Given the description of an element on the screen output the (x, y) to click on. 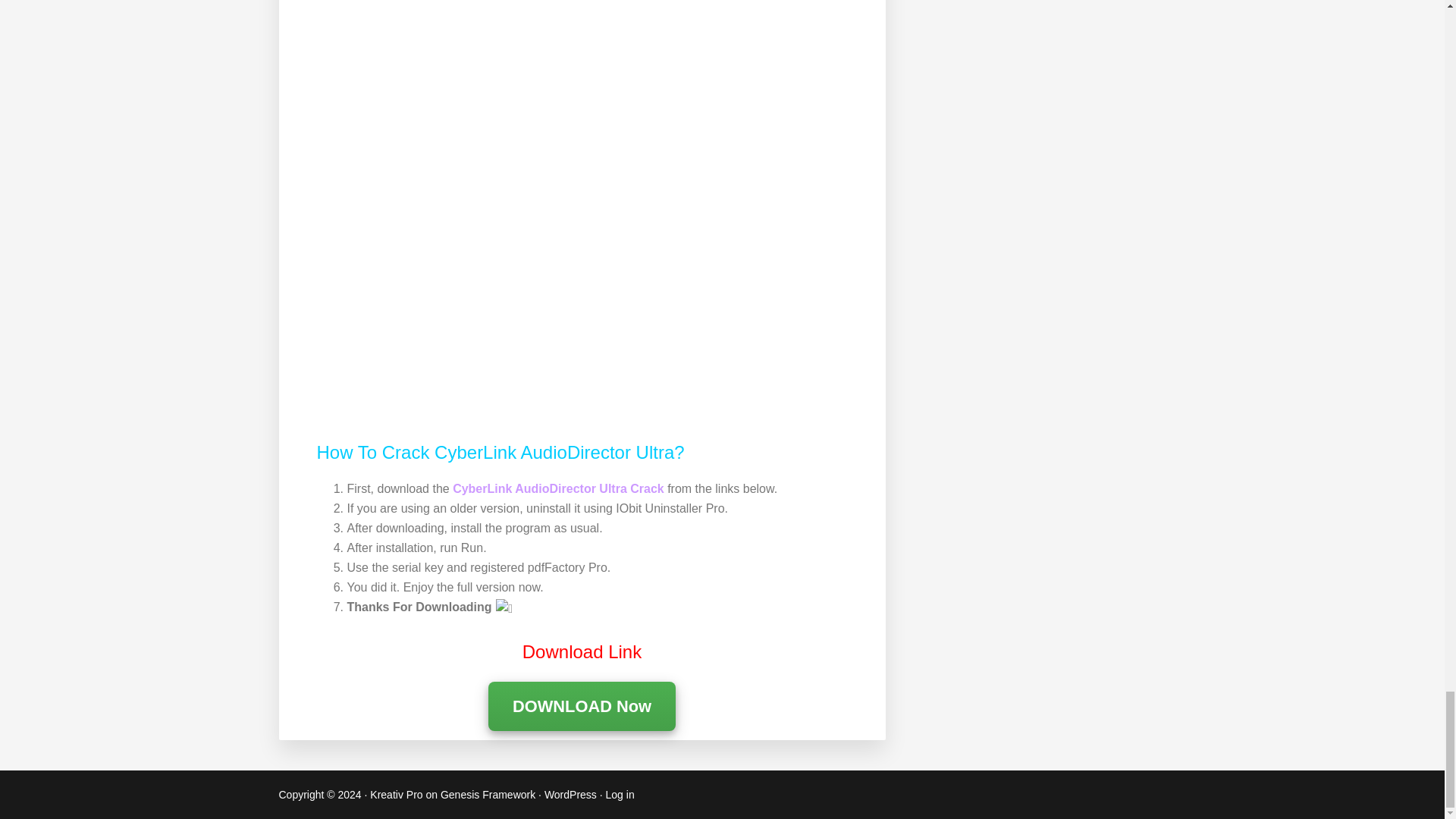
Download Link (582, 651)
Kreativ Pro (395, 794)
CyberLink AudioDirector Ultra Crack (557, 488)
DOWNLOAD Now (581, 706)
DOWNLOAD Now (581, 707)
